Given the description of an element on the screen output the (x, y) to click on. 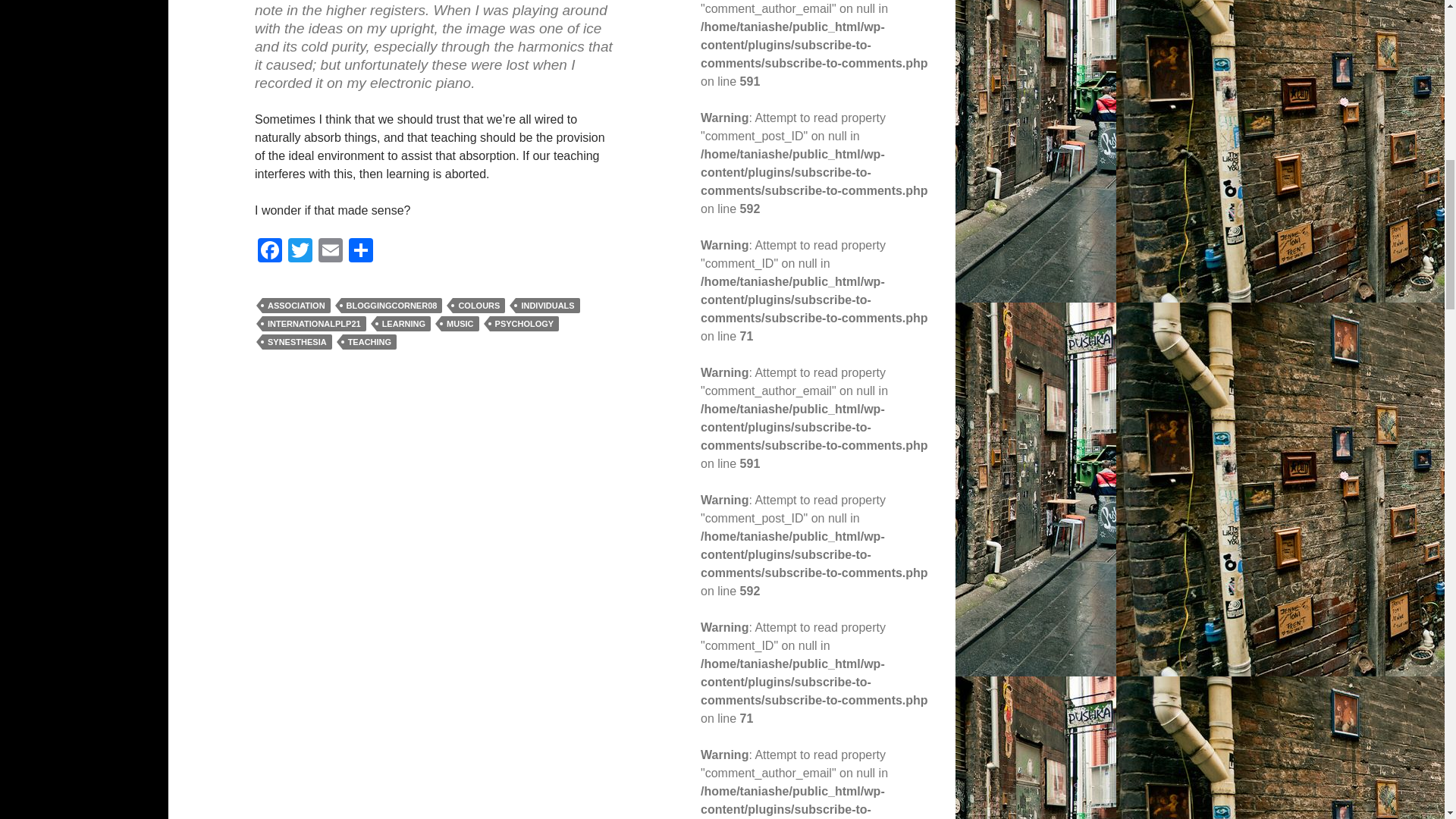
INDIVIDUALS (547, 305)
ASSOCIATION (296, 305)
INTERNATIONALPLP21 (314, 323)
PSYCHOLOGY (524, 323)
BLOGGINGCORNER08 (391, 305)
Facebook (269, 252)
Facebook (269, 252)
COLOURS (478, 305)
Email (330, 252)
Email (330, 252)
